Given the description of an element on the screen output the (x, y) to click on. 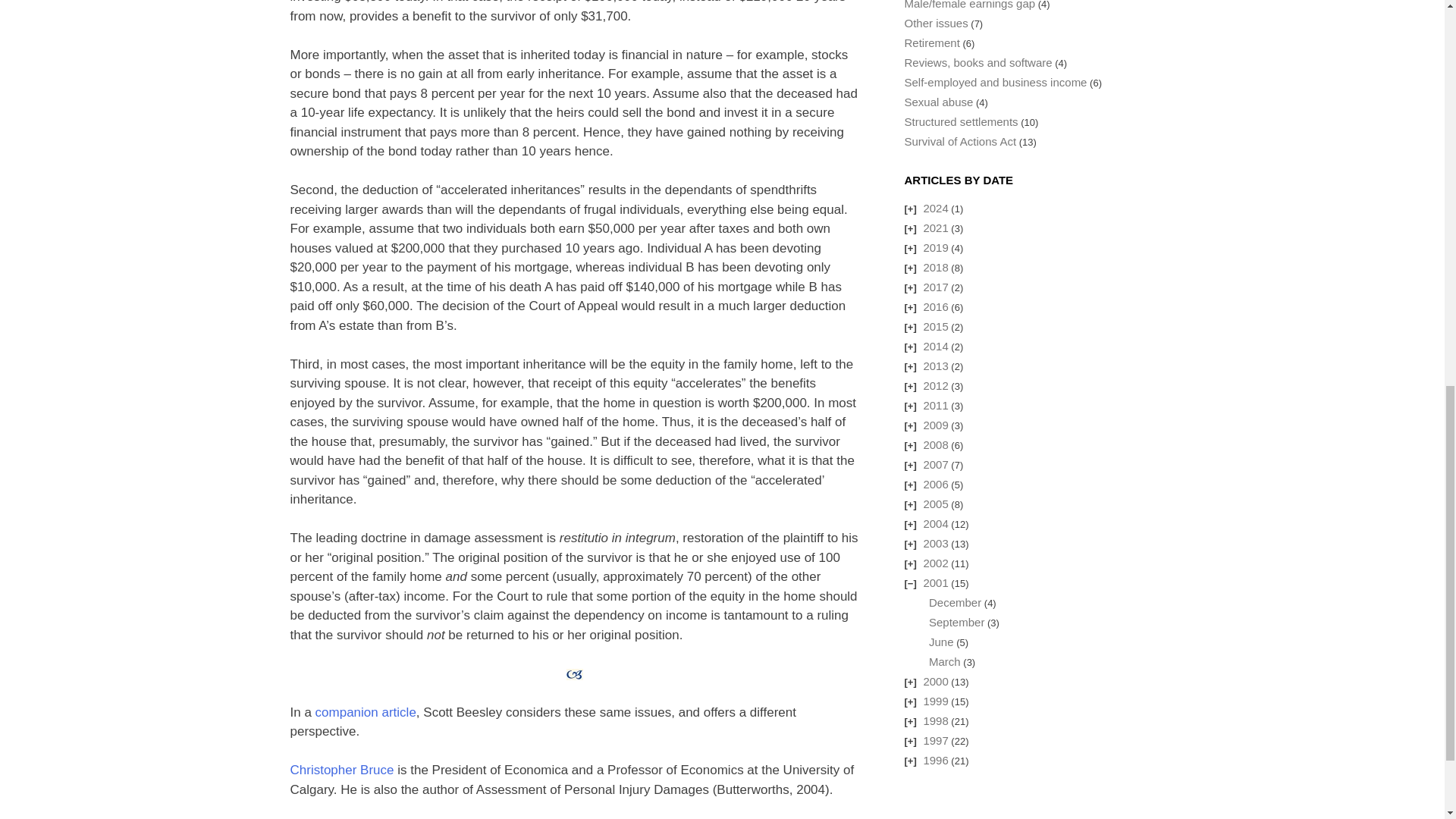
companion article (365, 712)
Information about Christopher Bruce (341, 769)
Christopher Bruce (341, 769)
